Given the description of an element on the screen output the (x, y) to click on. 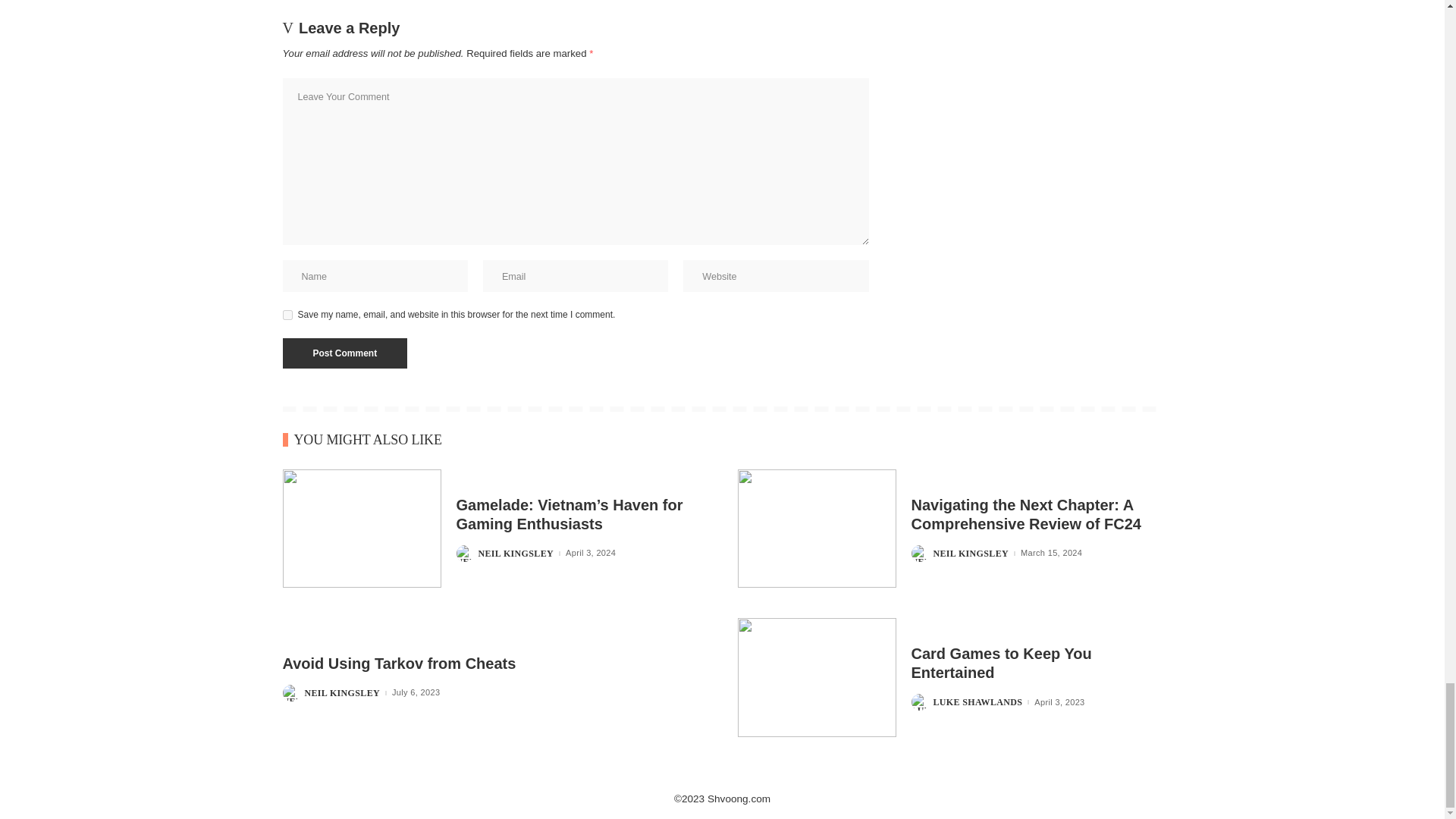
yes (287, 315)
Post Comment (344, 353)
